Given the description of an element on the screen output the (x, y) to click on. 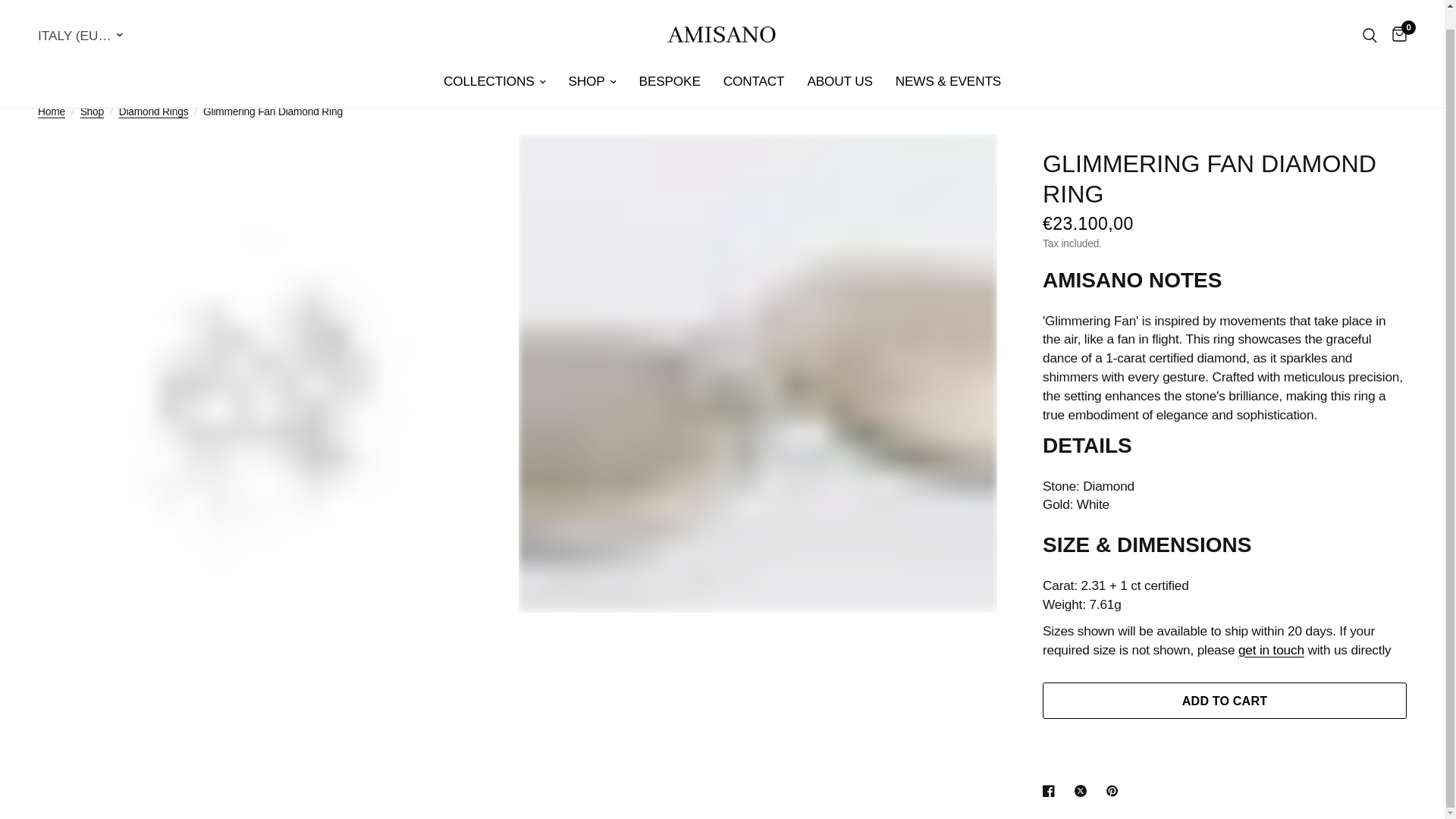
BESPOKE (669, 62)
ABOUT US (839, 62)
COLLECTIONS (495, 62)
COLLECTIONS (495, 62)
SHOP (592, 62)
SHOP (592, 62)
Home (51, 111)
Diamond Rings (154, 111)
Shop (91, 111)
CONTACT (753, 62)
